Given the description of an element on the screen output the (x, y) to click on. 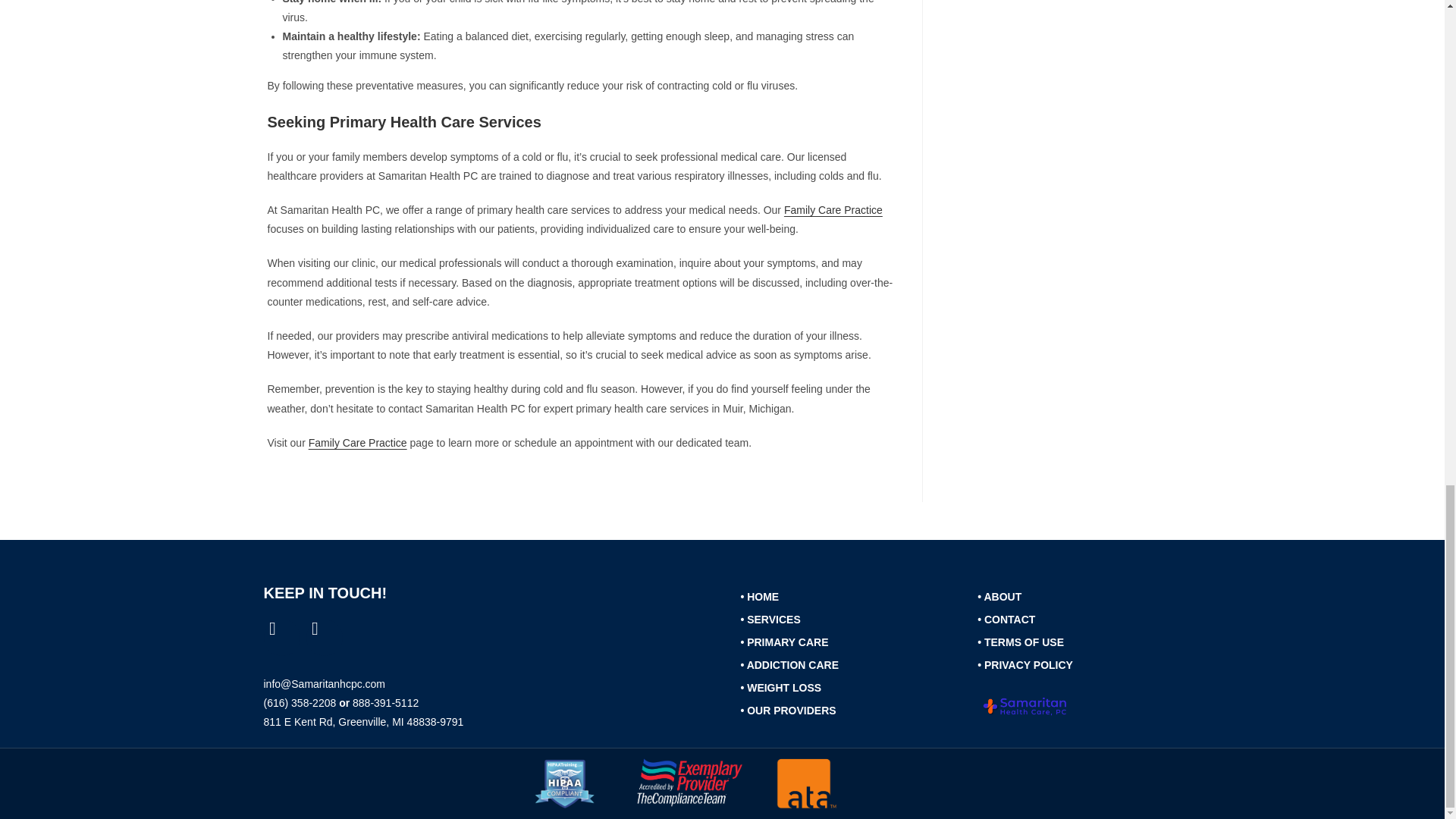
Family Care Practice (833, 209)
